Given the description of an element on the screen output the (x, y) to click on. 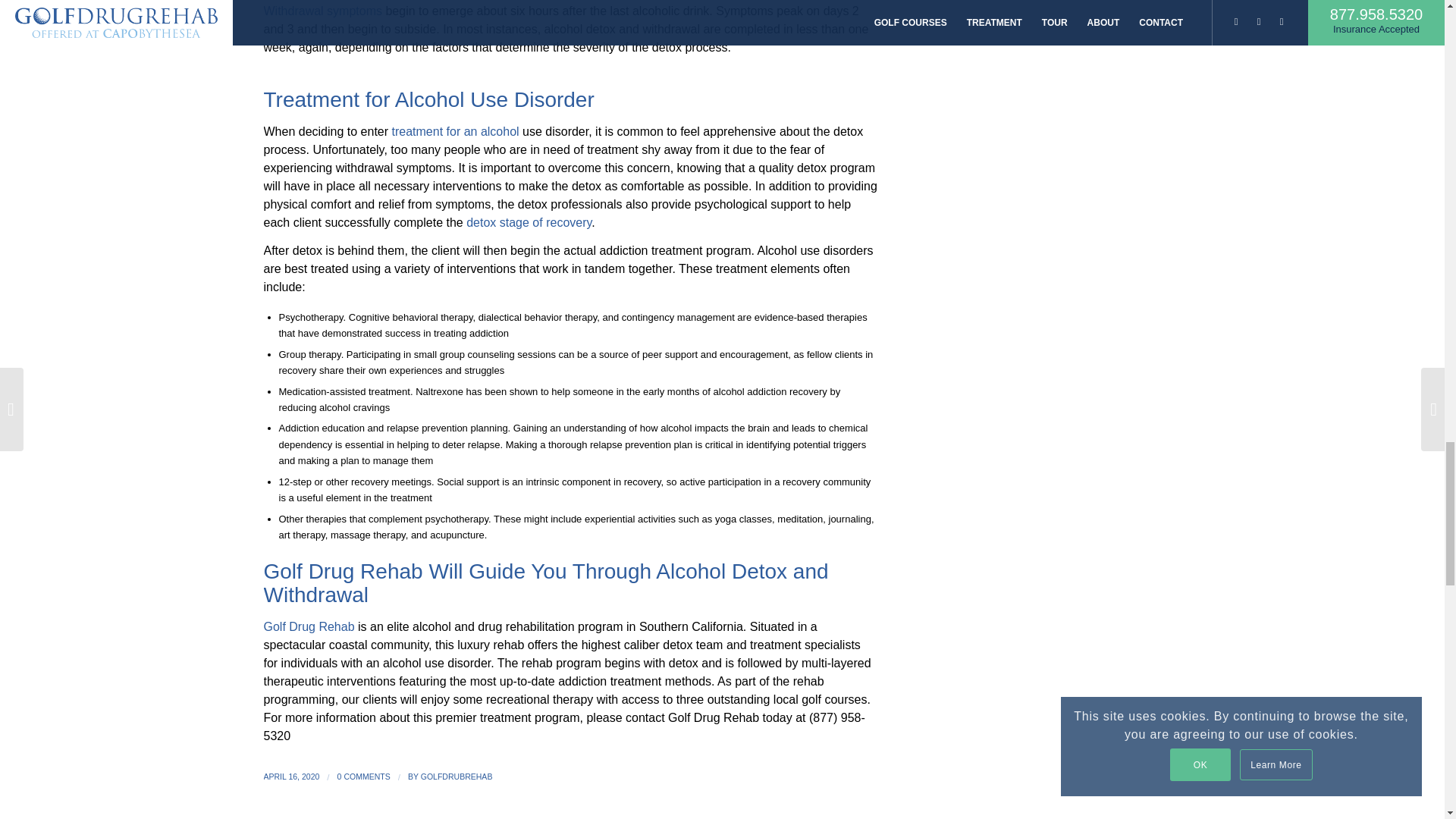
Withdrawal symptoms (322, 10)
treatment for an alcohol (454, 131)
Golf Drug Rehab (309, 626)
Posts by golfdrubrehab (456, 776)
detox stage of recovery (528, 222)
